Given the description of an element on the screen output the (x, y) to click on. 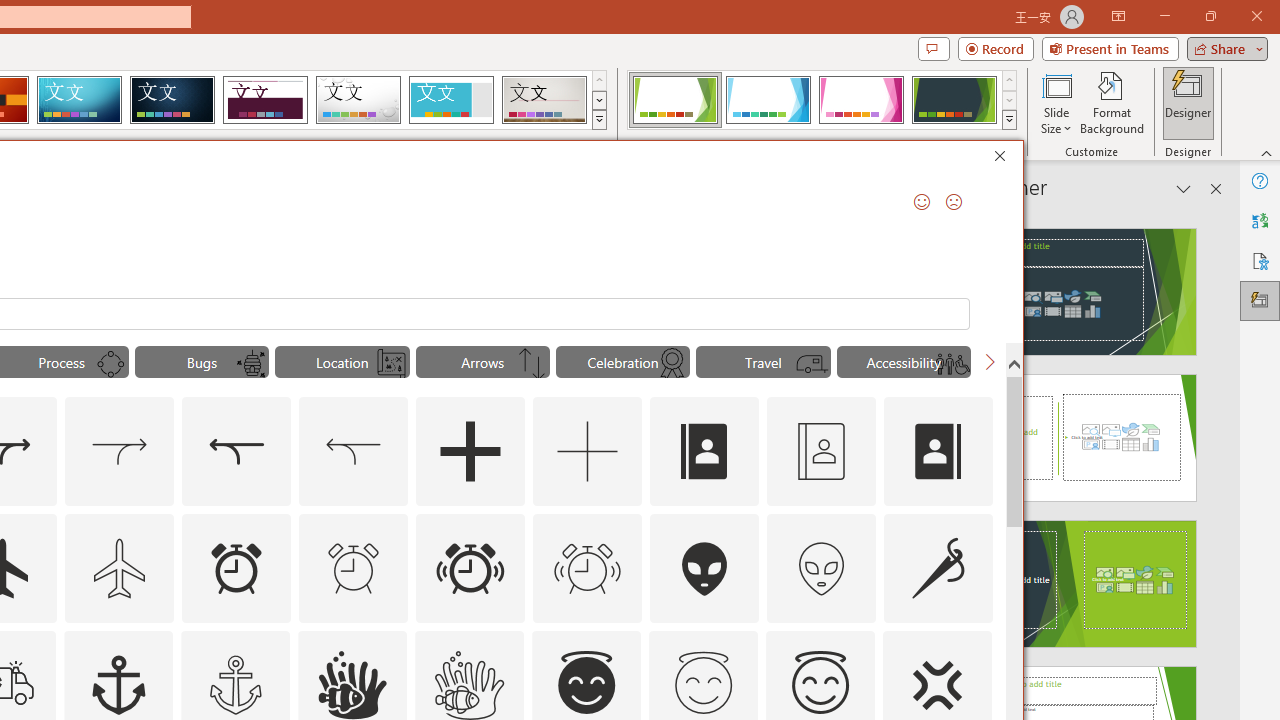
"Arrows" Icons. (483, 362)
AutomationID: ThemeVariantsGallery (822, 99)
AutomationID: Icons_AlarmClock (236, 568)
Send a Smile (922, 201)
AutomationID: Icons_AddressBook_RTL (938, 452)
AutomationID: Icons_Trailer_M (812, 364)
Droplet (358, 100)
